Given the description of an element on the screen output the (x, y) to click on. 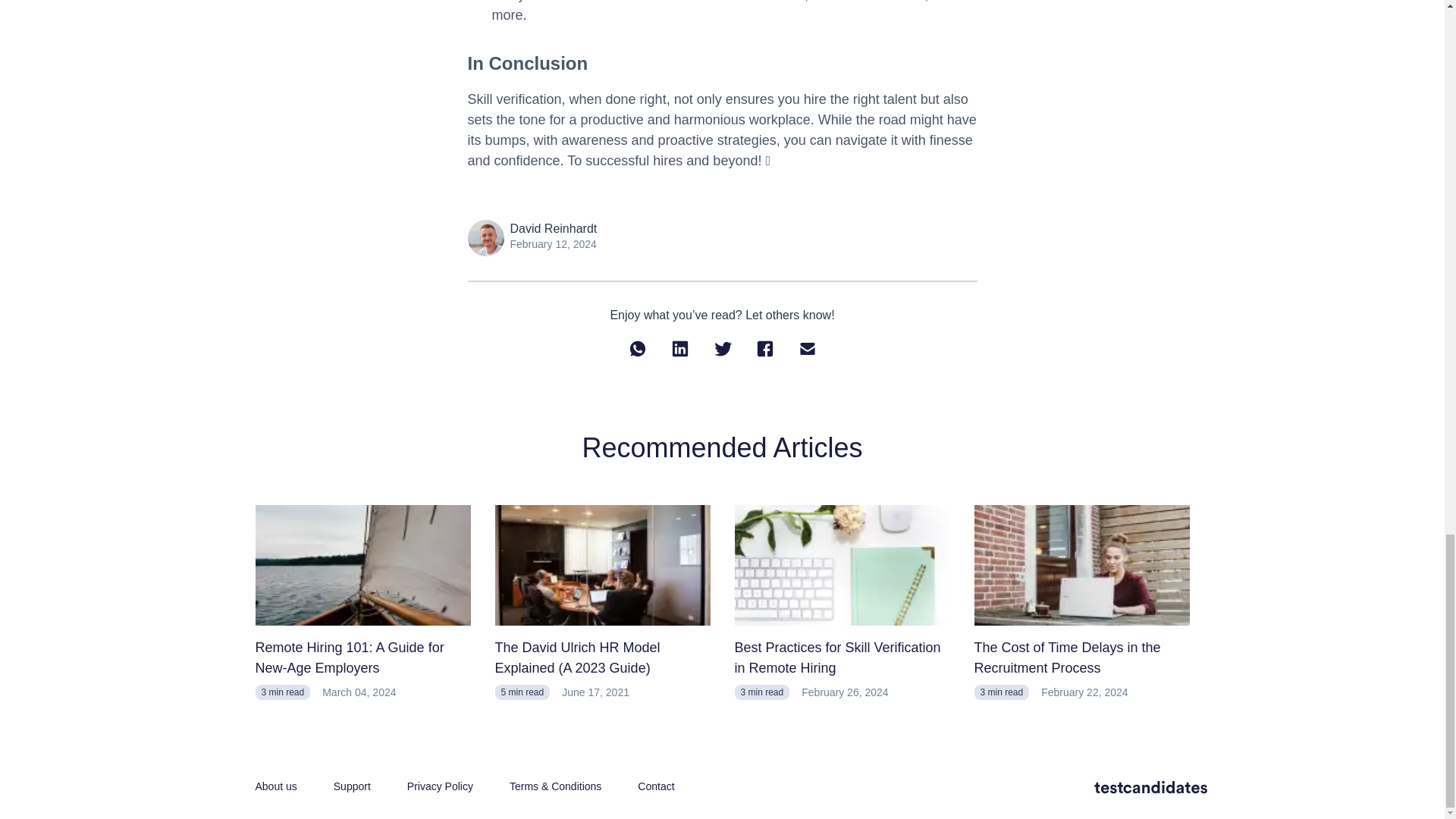
facebook icon (764, 348)
linkedin icon (678, 348)
twitter icon (721, 348)
About us (275, 786)
facebook icon (764, 348)
twitter icon (721, 348)
whatsapp icon (636, 348)
email icon (806, 348)
linkedin icon (678, 348)
whatsapp icon (636, 348)
email icon (806, 348)
